Given the description of an element on the screen output the (x, y) to click on. 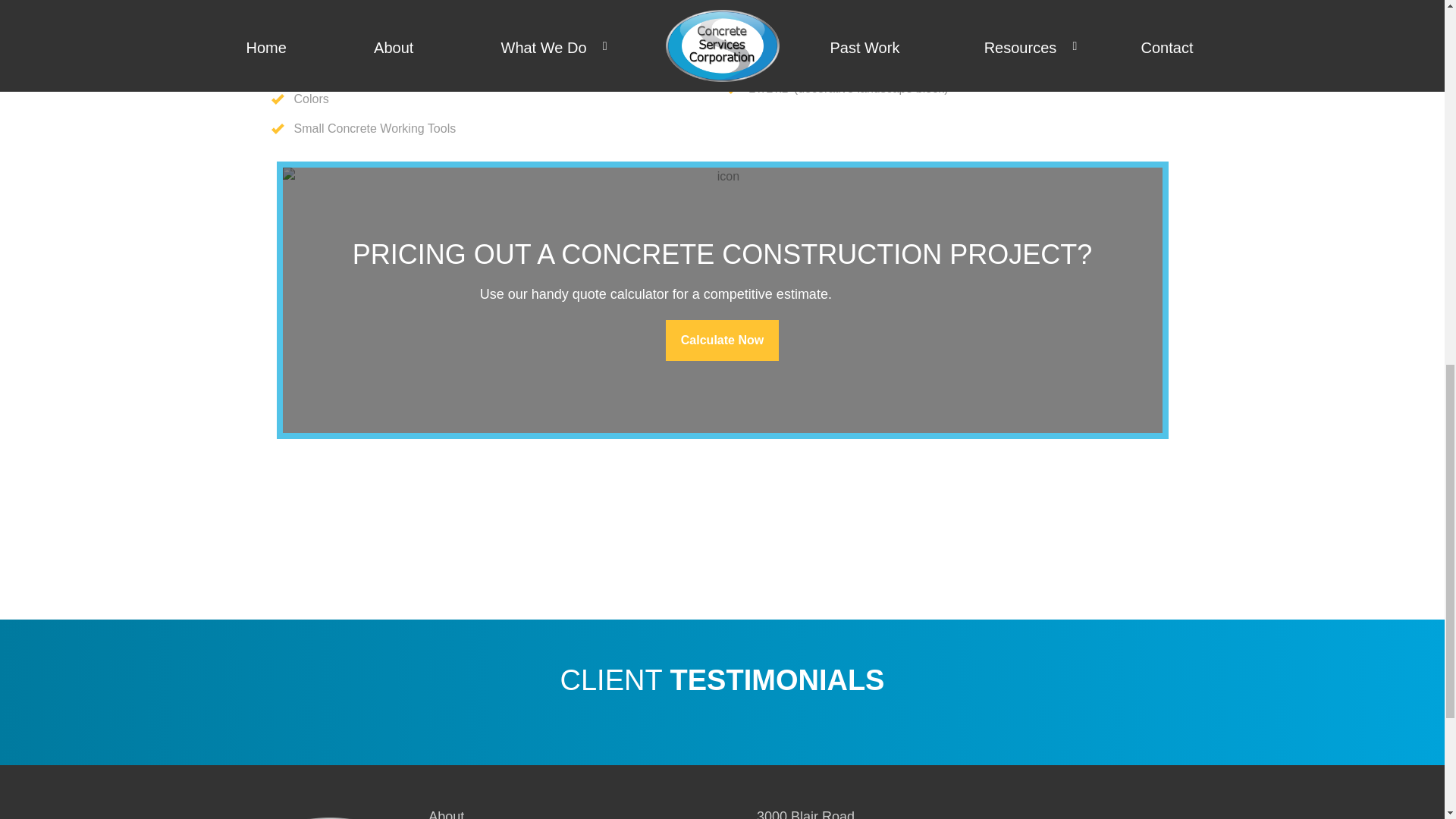
Calculate Now (721, 340)
